Given the description of an element on the screen output the (x, y) to click on. 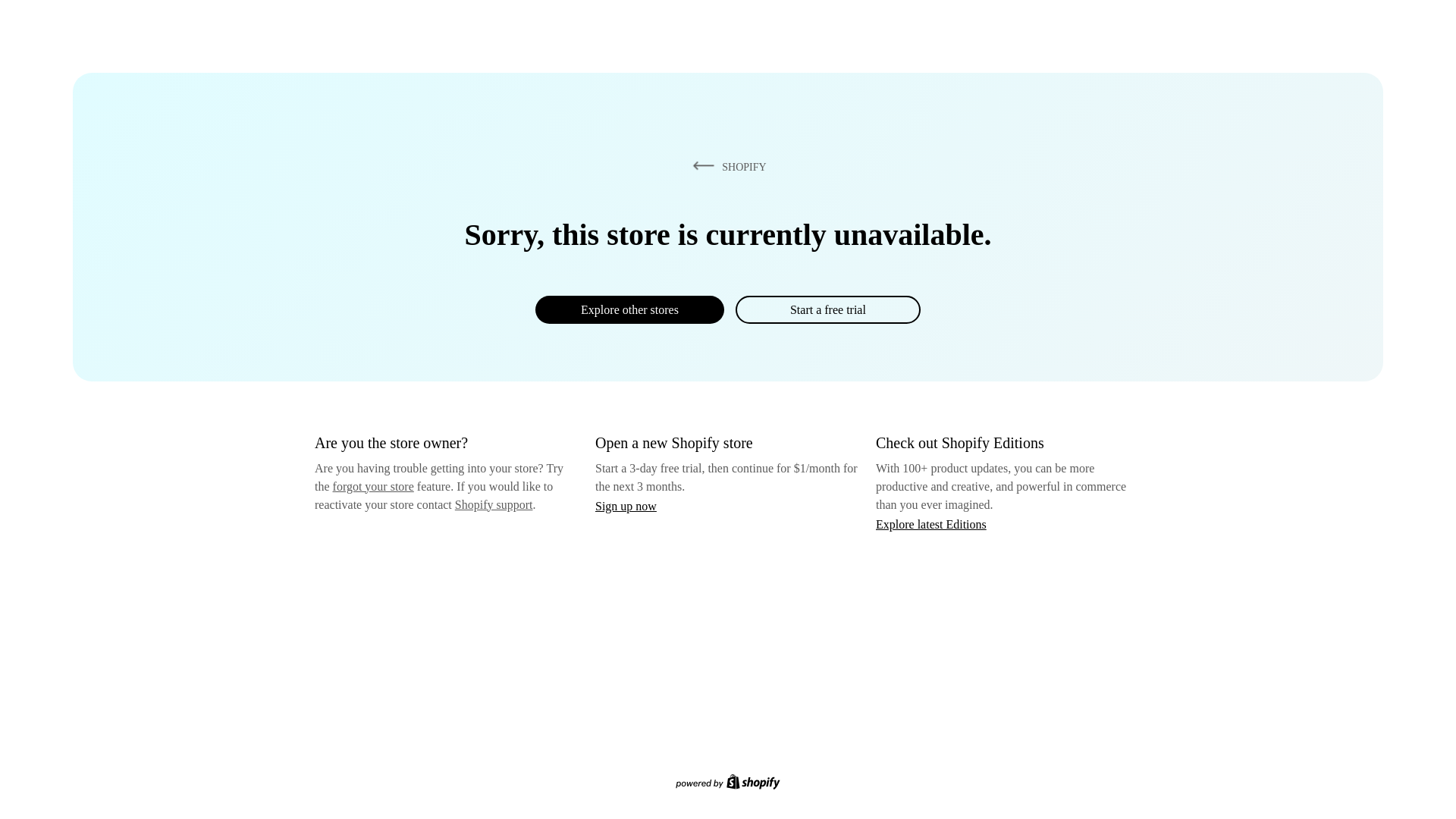
SHOPIFY (726, 166)
Start a free trial (827, 309)
Sign up now (625, 505)
forgot your store (373, 486)
Explore other stores (629, 309)
Shopify support (493, 504)
Explore latest Editions (931, 523)
